Given the description of an element on the screen output the (x, y) to click on. 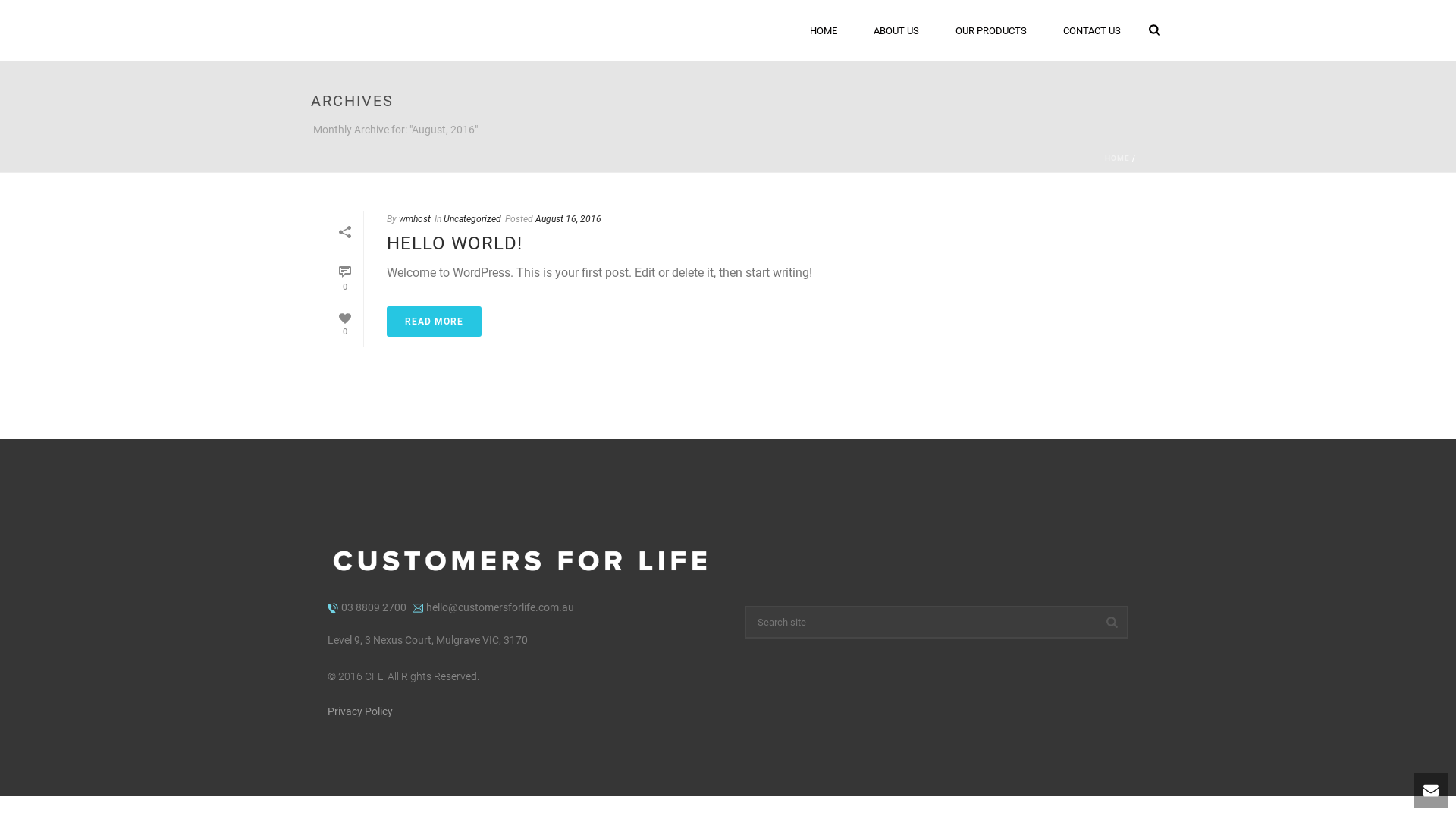
0 Element type: text (344, 279)
wmhost Element type: text (414, 218)
HOME Element type: text (823, 29)
0 Element type: text (344, 324)
Uncategorized Element type: text (472, 218)
CONTACT US Element type: text (1091, 29)
HELLO WORLD! Element type: text (454, 243)
August 16, 2016 Element type: text (568, 218)
HOME Element type: text (1116, 157)
Customers For Life Element type: hover (462, 30)
ABOUT US Element type: text (895, 29)
OUR PRODUCTS Element type: text (990, 29)
READ MORE Element type: text (433, 321)
Privacy Policy Element type: text (359, 711)
